Given the description of an element on the screen output the (x, y) to click on. 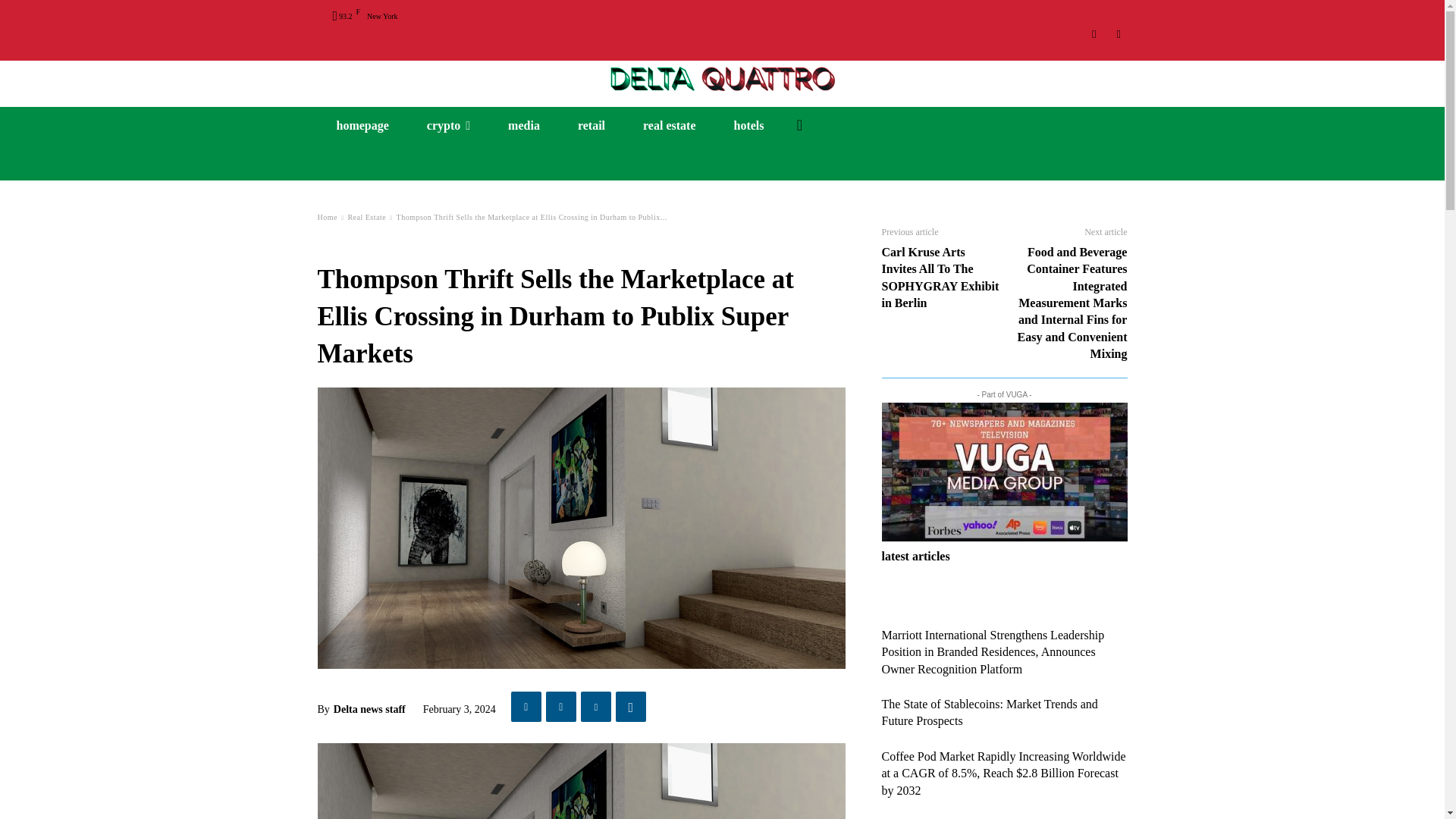
media (524, 125)
Instagram (1094, 34)
real estate (669, 125)
hotels (748, 125)
crypto (448, 125)
homepage (362, 125)
Delta Quattro (721, 77)
retail (591, 125)
Delta Quattro (721, 77)
Facebook (1117, 34)
